Given the description of an element on the screen output the (x, y) to click on. 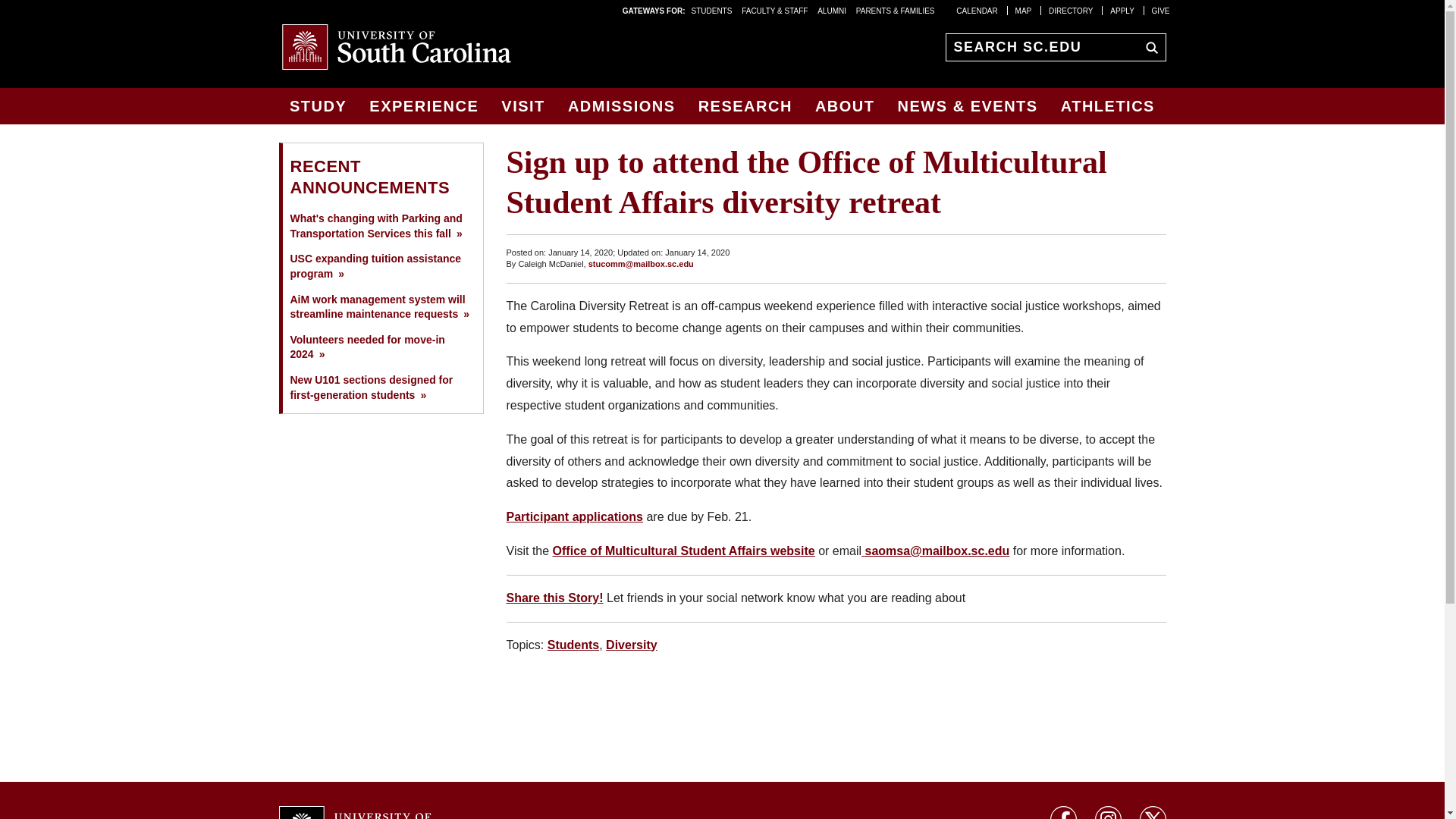
STUDENTS (713, 9)
DIRECTORY (1070, 9)
GIVE (1160, 9)
CALENDAR (976, 9)
APPLY (1121, 9)
EXPERIENCE (423, 105)
MAP (1023, 9)
STUDY (318, 105)
VISIT (523, 105)
GO (1148, 46)
ALUMNI (830, 9)
GO (1148, 46)
sc.edu Search (1148, 46)
